Given the description of an element on the screen output the (x, y) to click on. 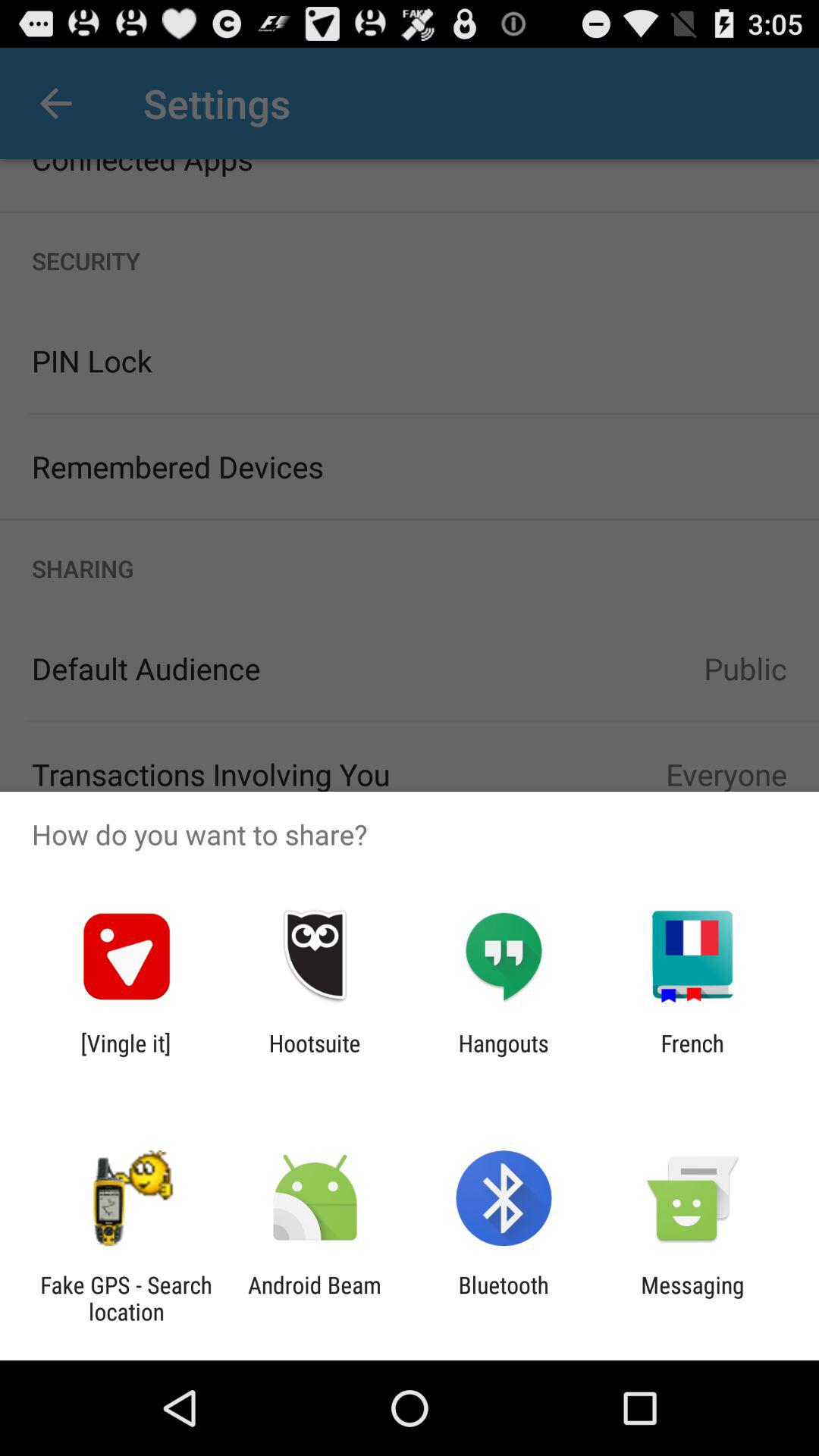
jump until the messaging (692, 1298)
